Given the description of an element on the screen output the (x, y) to click on. 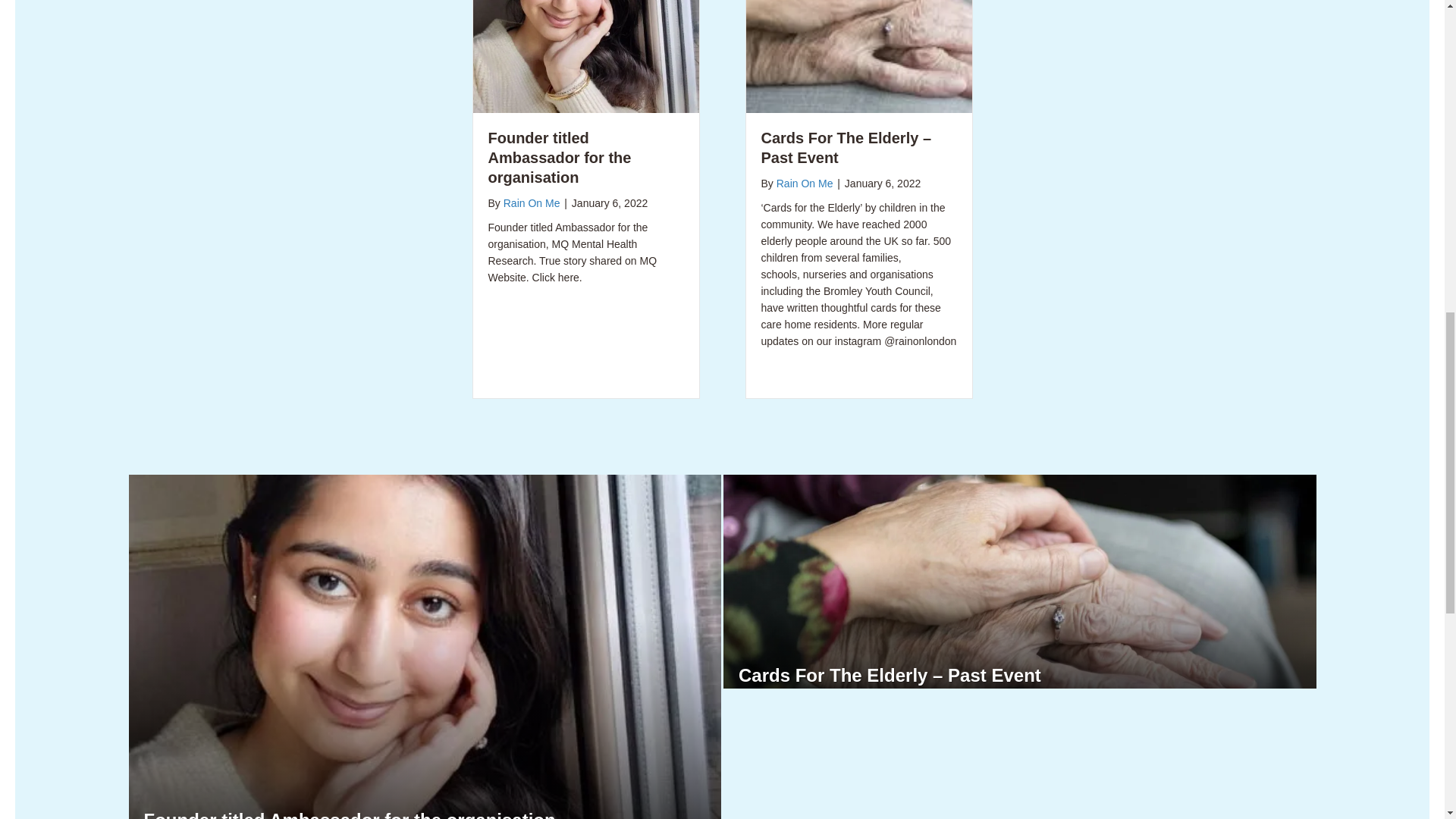
Rain On Me (531, 203)
Founder titled Ambassador for the organisation (559, 157)
Founder titled Ambassador for the organisation (585, 3)
Founder titled Ambassador for the organisation (559, 157)
Rain On Me (804, 183)
Founder titled Ambassador for the organisation (350, 814)
Founder titled Ambassador for the organisation (350, 814)
